Given the description of an element on the screen output the (x, y) to click on. 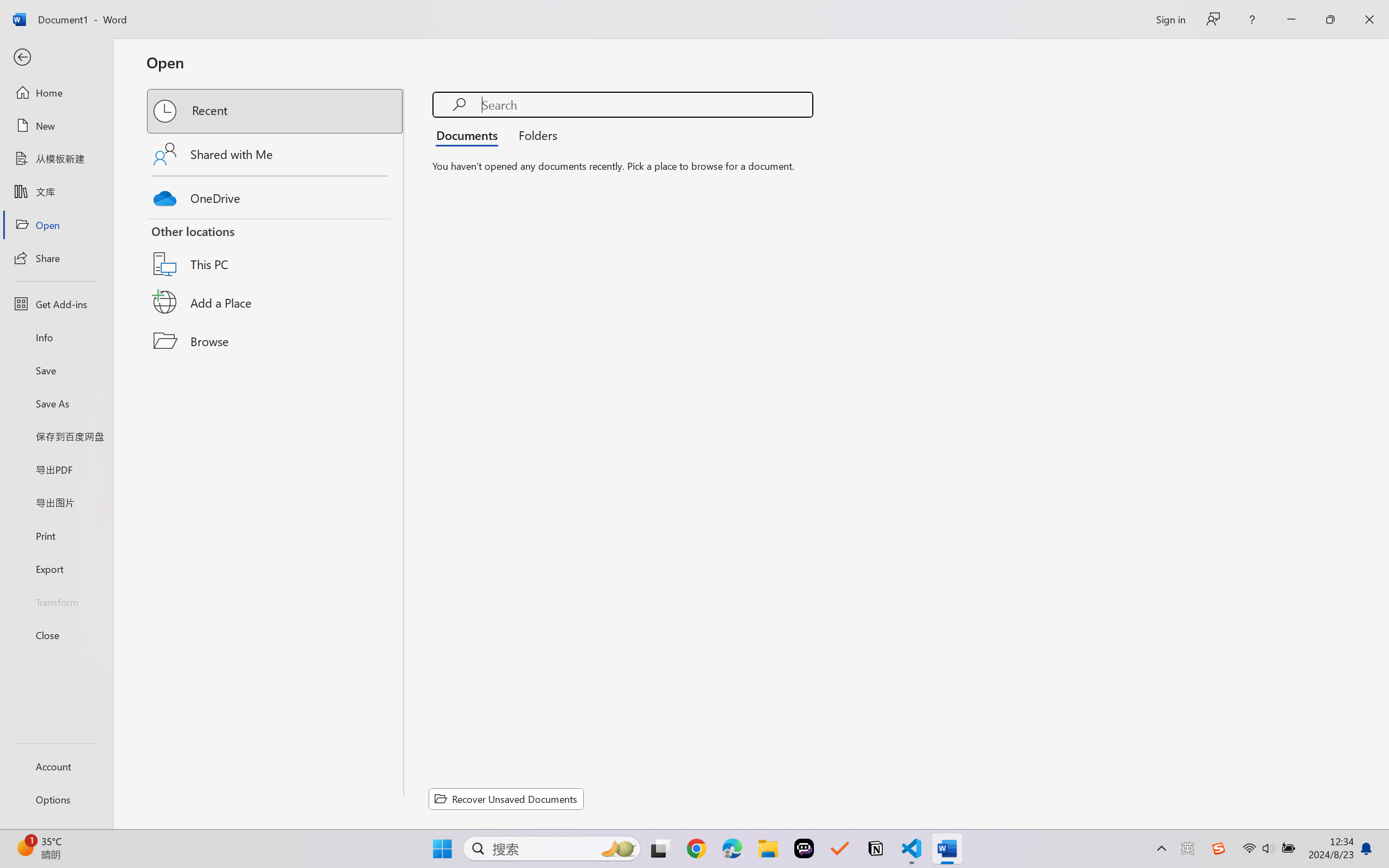
Browse (275, 340)
Options (56, 798)
Transform (56, 601)
Account (56, 765)
New (56, 125)
Recent (275, 110)
Folders (534, 134)
Save As (56, 403)
